Given the description of an element on the screen output the (x, y) to click on. 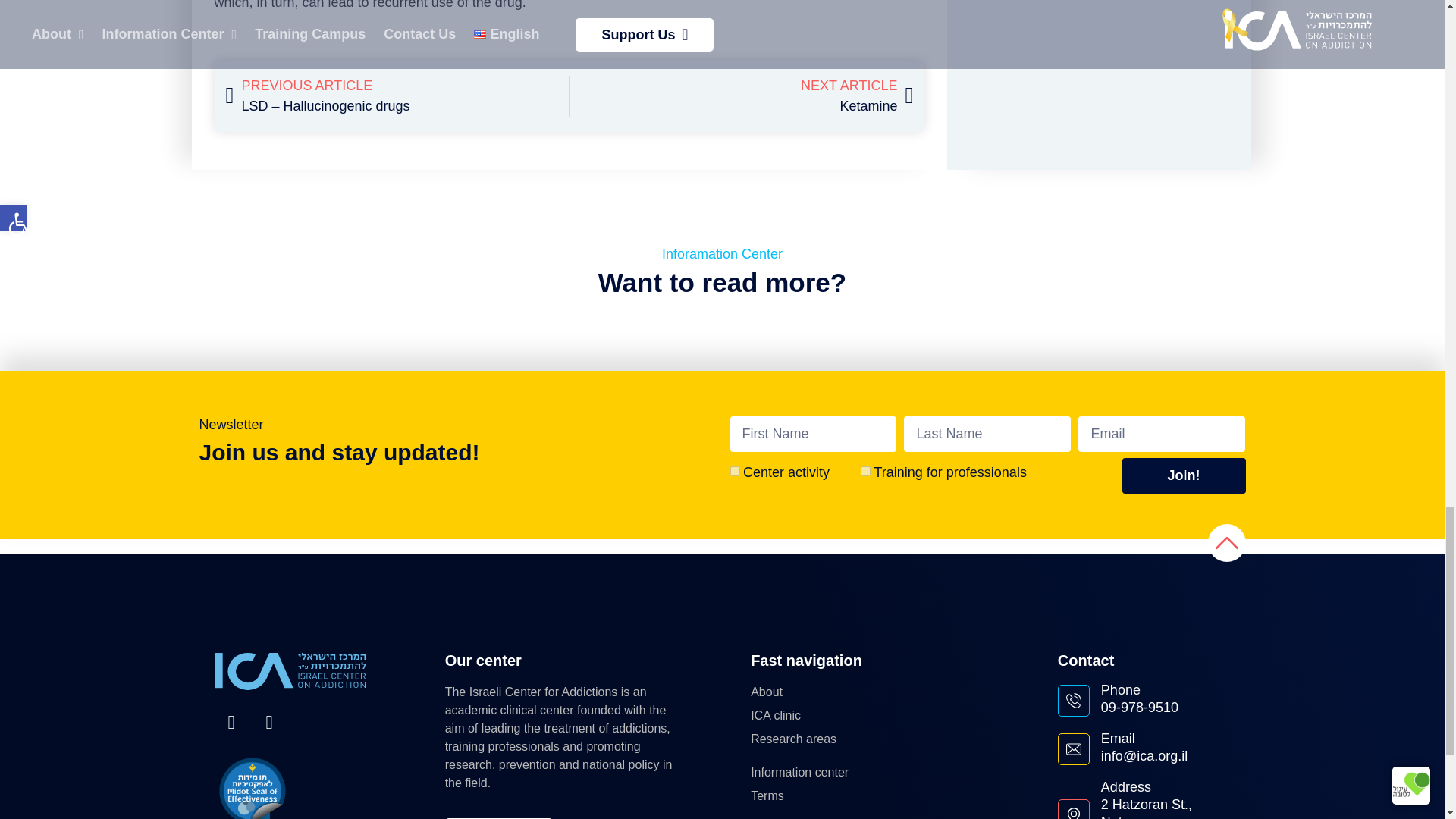
 true (865, 470)
 true (734, 470)
